Given the description of an element on the screen output the (x, y) to click on. 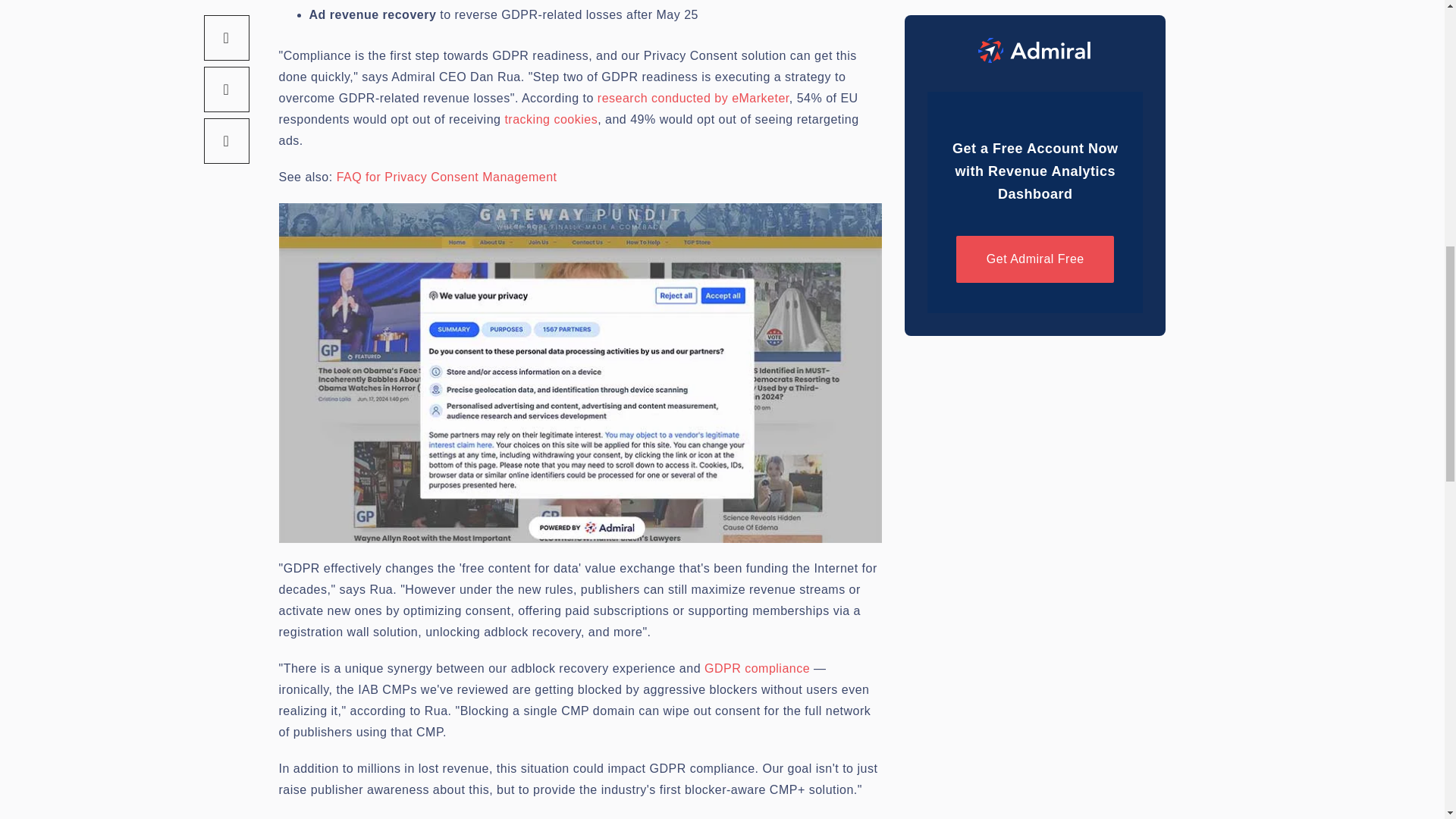
GDPR compliance (756, 667)
tracking cookies (549, 119)
research conducted by eMarketer (692, 97)
FAQ for Privacy Consent Management (446, 176)
